Given the description of an element on the screen output the (x, y) to click on. 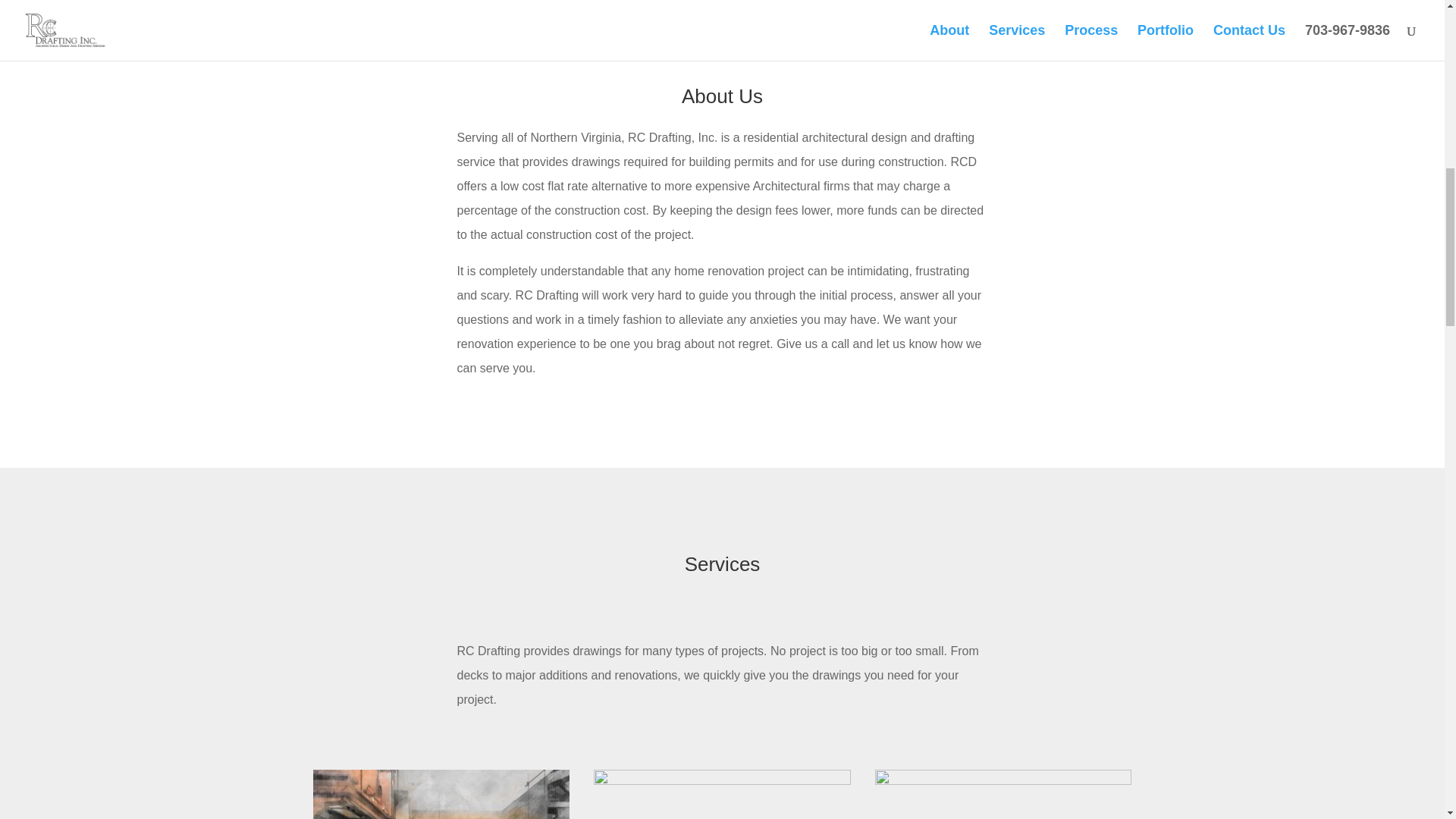
Primary Bedroom Suites (722, 780)
Additions (1003, 780)
